Given the description of an element on the screen output the (x, y) to click on. 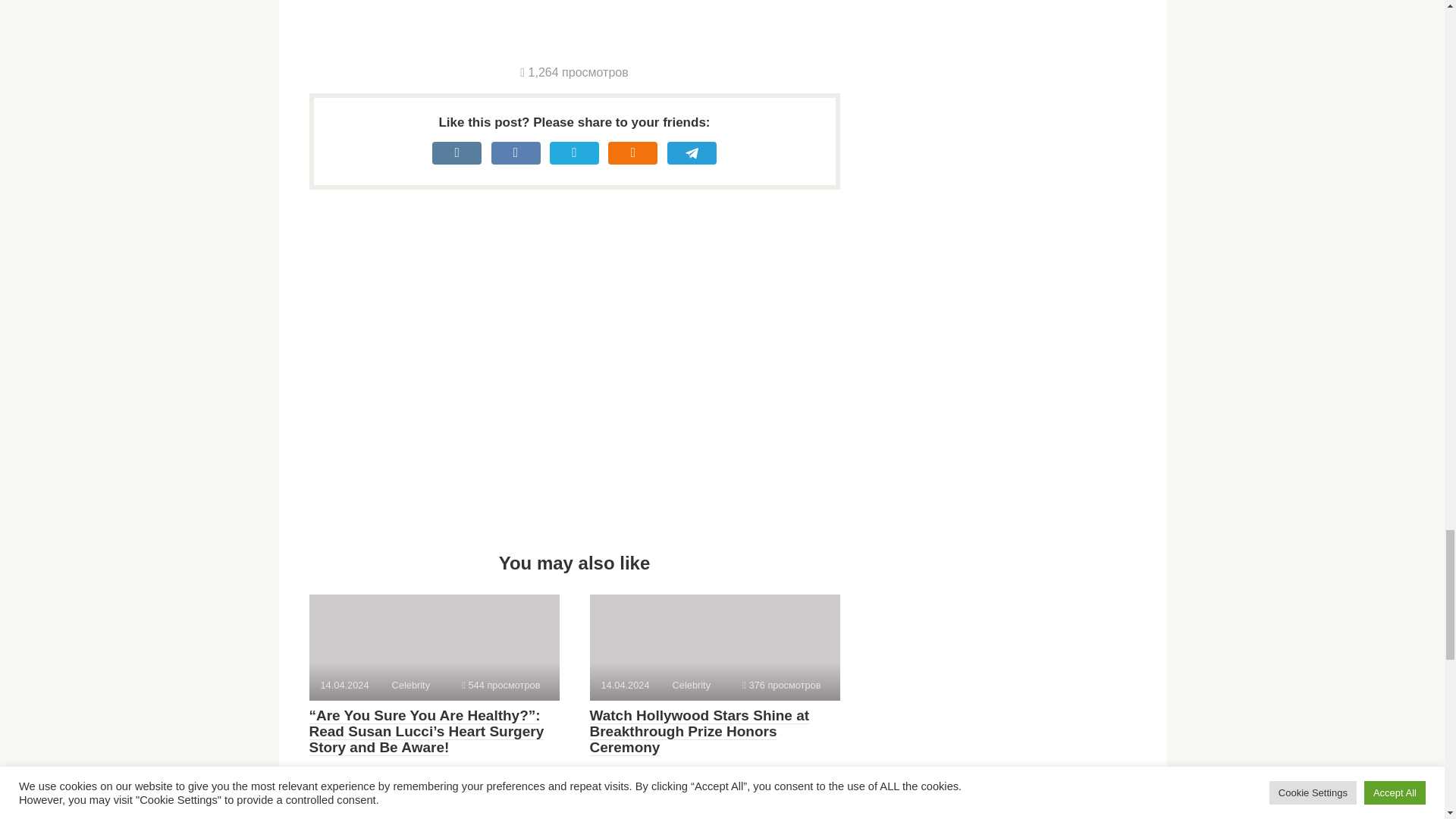
Views (781, 685)
Views (500, 685)
Advertisement (585, 22)
Views (573, 72)
